Given the description of an element on the screen output the (x, y) to click on. 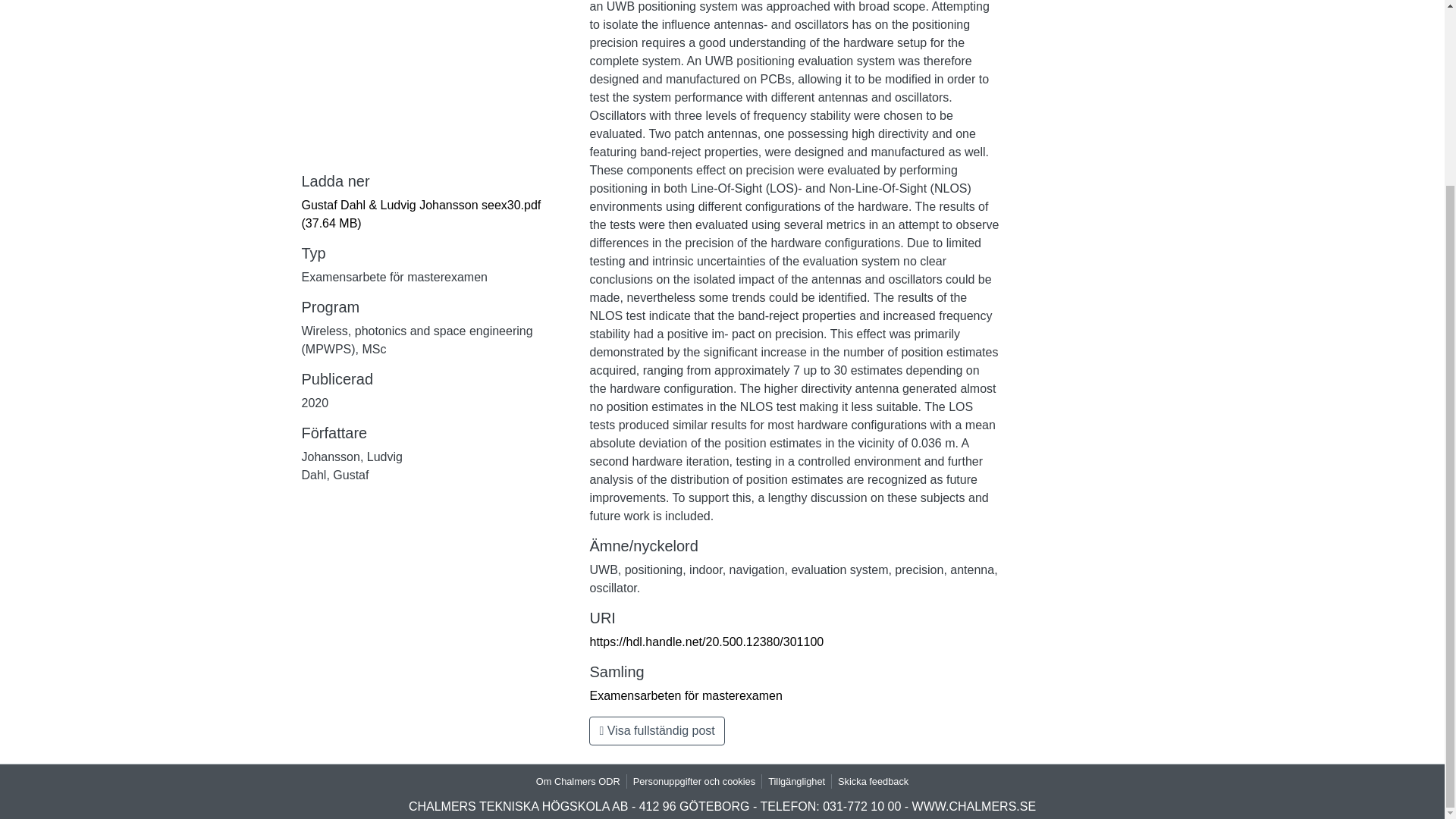
Om Chalmers ODR (577, 780)
WWW.CHALMERS.SE (974, 806)
Personuppgifter och cookies (694, 780)
Skicka feedback (872, 780)
